Given the description of an element on the screen output the (x, y) to click on. 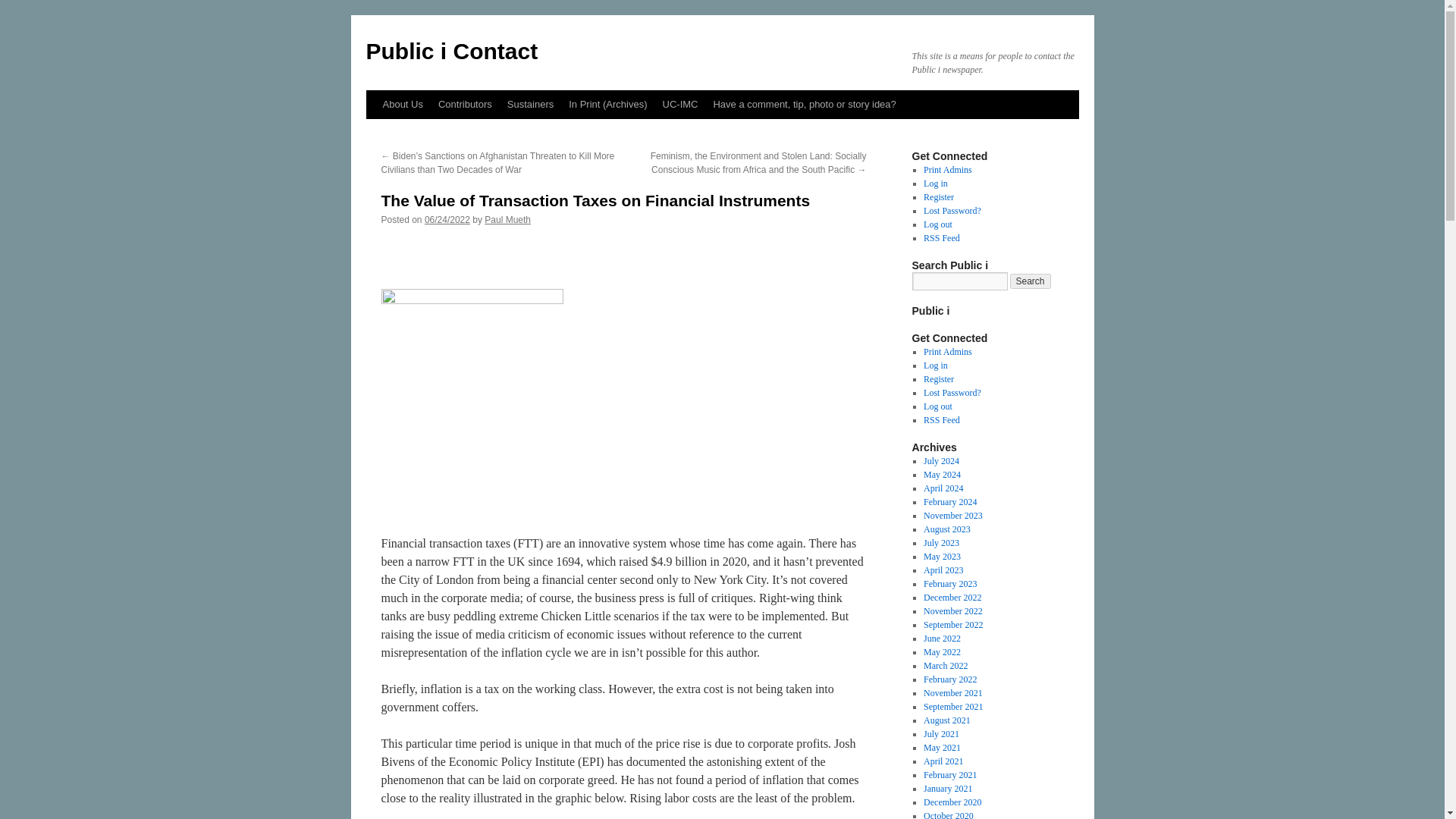
RSS Feed (941, 419)
Lost Password? (952, 210)
Log out (937, 406)
Register (938, 196)
11:47 pm (447, 219)
July 2024 (941, 460)
About Us (401, 104)
Public i Contact (451, 50)
Print Admins (947, 169)
UC-IMC (680, 104)
Sustainers (529, 104)
Register (938, 378)
View all posts by Paul Mueth (507, 219)
Search (1030, 281)
Print Admins (947, 351)
